Given the description of an element on the screen output the (x, y) to click on. 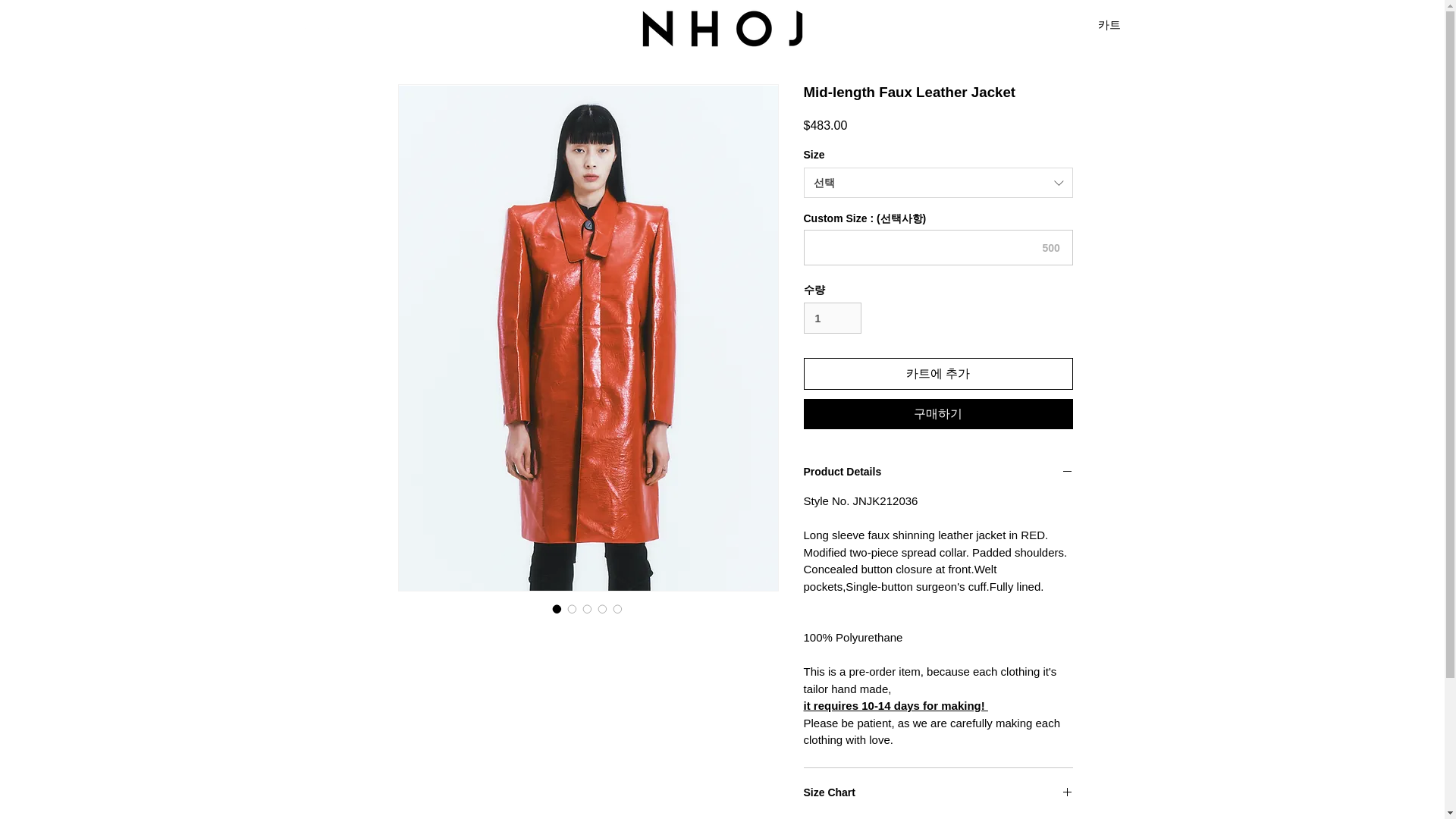
Product Details (938, 472)
Size Chart (938, 793)
1 (832, 317)
